Given the description of an element on the screen output the (x, y) to click on. 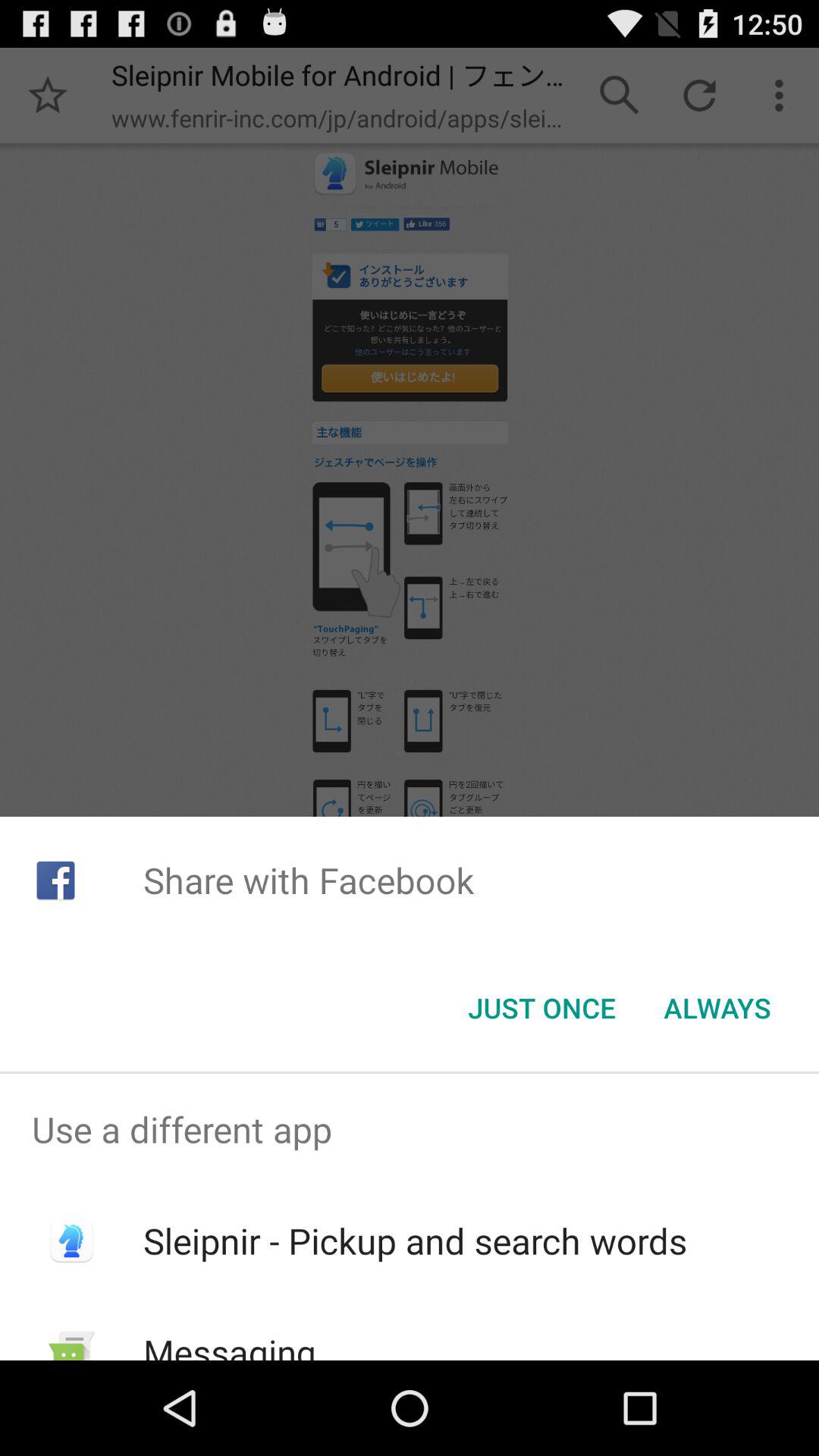
choose sleipnir pickup and icon (415, 1240)
